Given the description of an element on the screen output the (x, y) to click on. 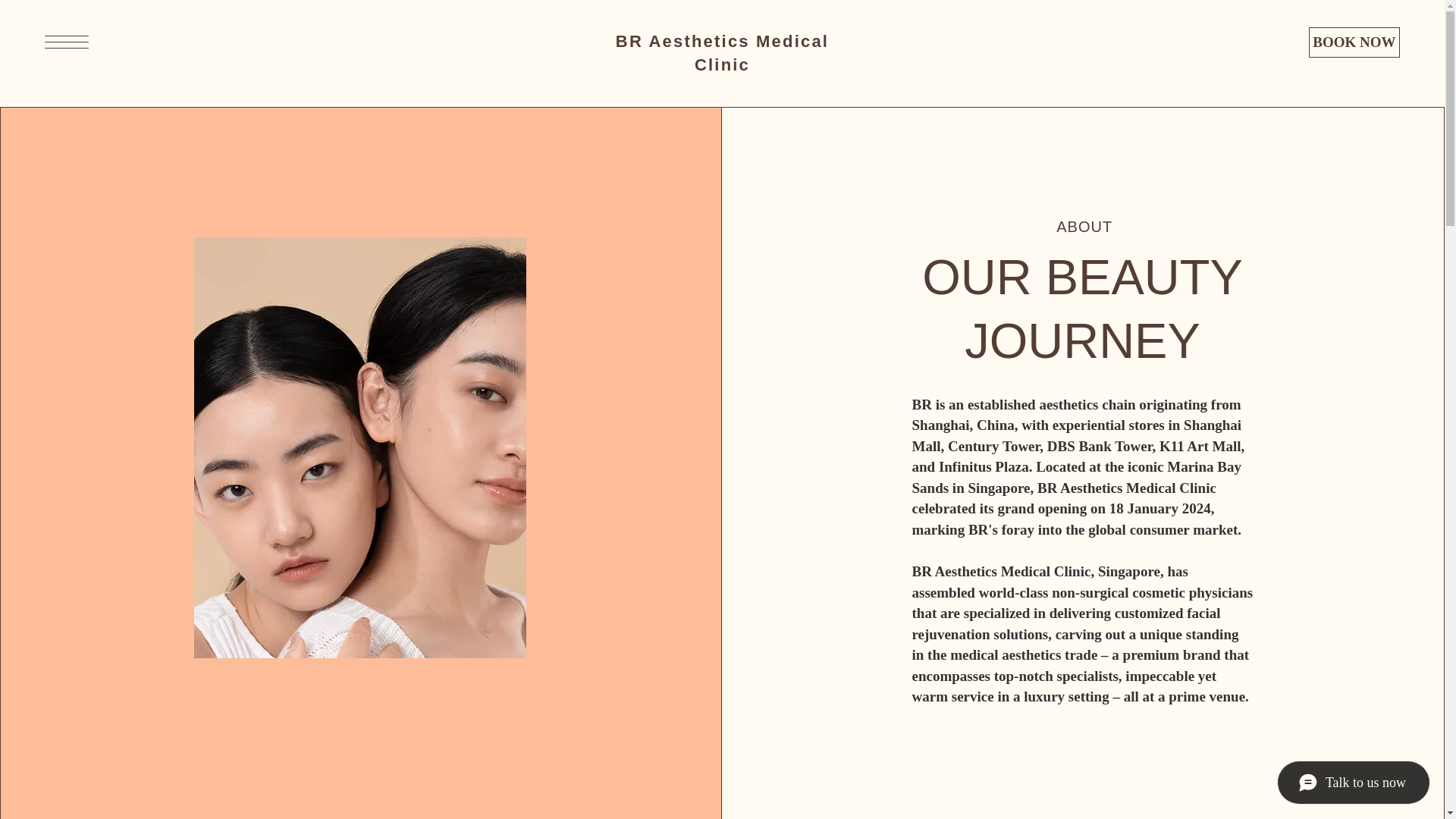
BR Aesthetics Medical Clinic (721, 52)
BOOK NOW (1353, 42)
